Given the description of an element on the screen output the (x, y) to click on. 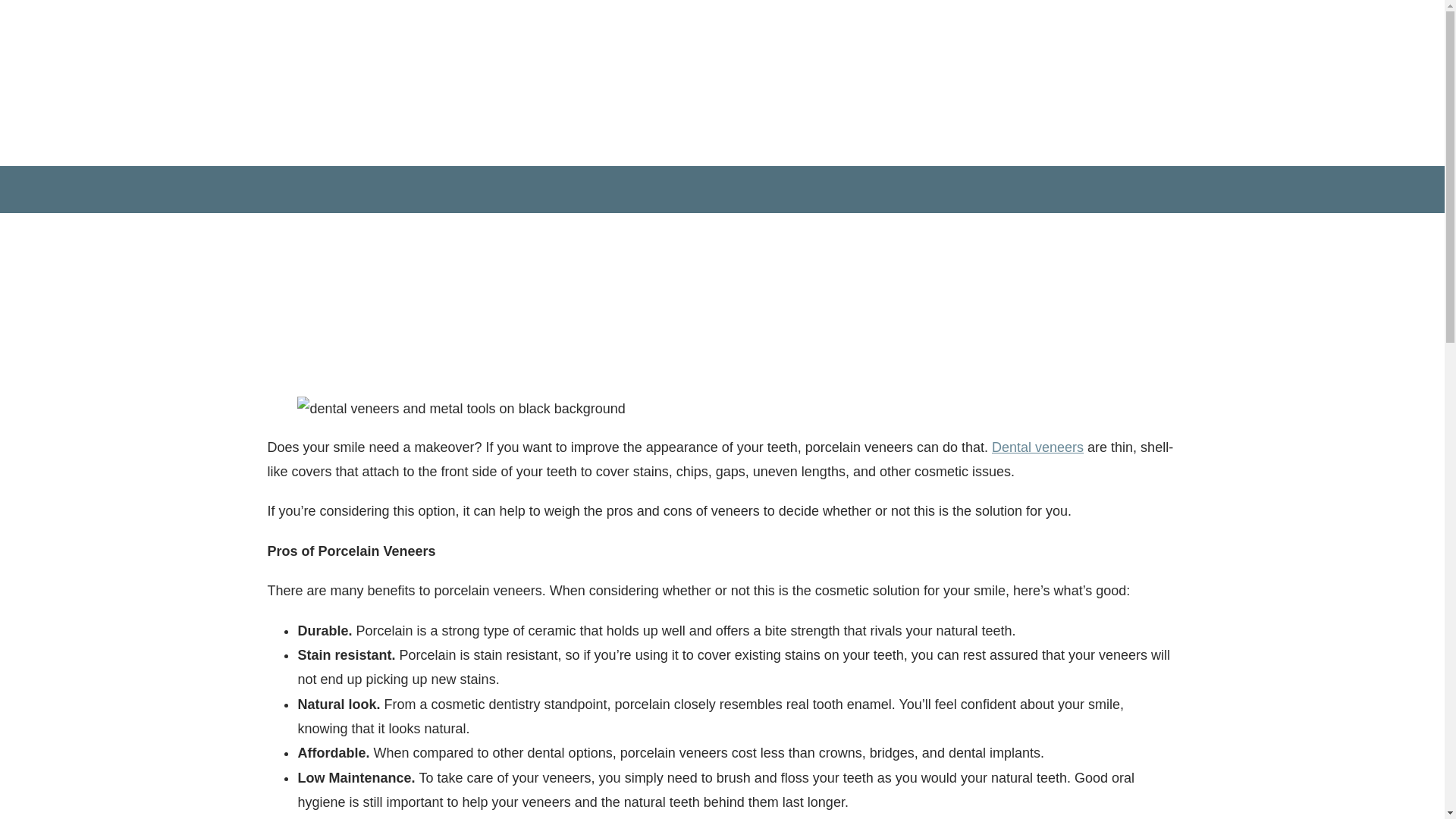
Dental veneers (1037, 447)
